Given the description of an element on the screen output the (x, y) to click on. 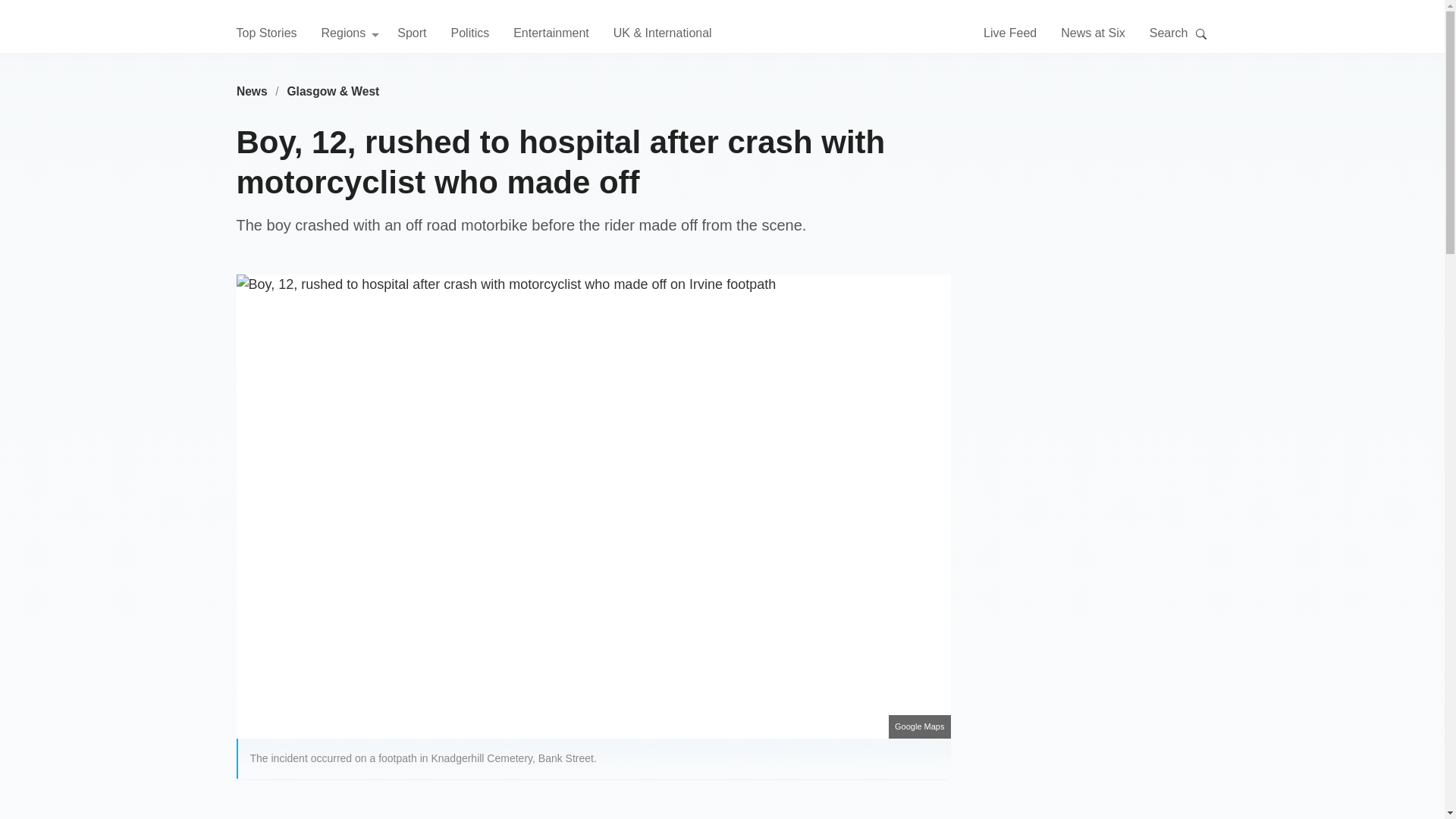
Top Stories (266, 32)
Live Feed (1010, 32)
Search (1201, 34)
News at Six (1092, 32)
News (252, 91)
Politics (469, 32)
Regions (350, 32)
Entertainment (551, 32)
